Given the description of an element on the screen output the (x, y) to click on. 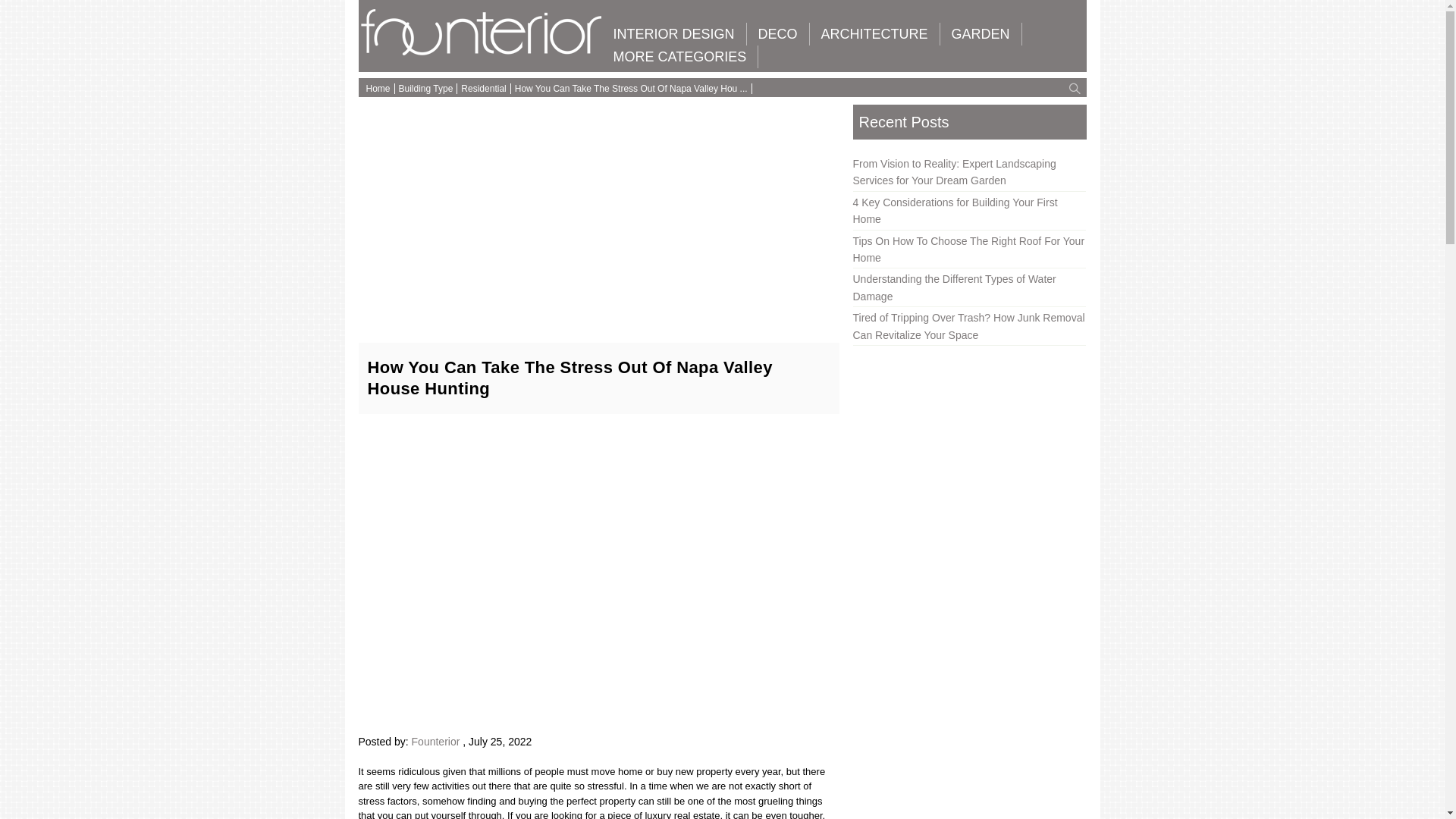
ARCHITECTURE (874, 33)
MORE CATEGORIES (680, 56)
Architecture (874, 33)
Interior Design (673, 33)
DECO (777, 33)
GARDEN (981, 33)
INTERIOR DESIGN (673, 33)
Decoration (777, 33)
Founterior (481, 51)
